Given the description of an element on the screen output the (x, y) to click on. 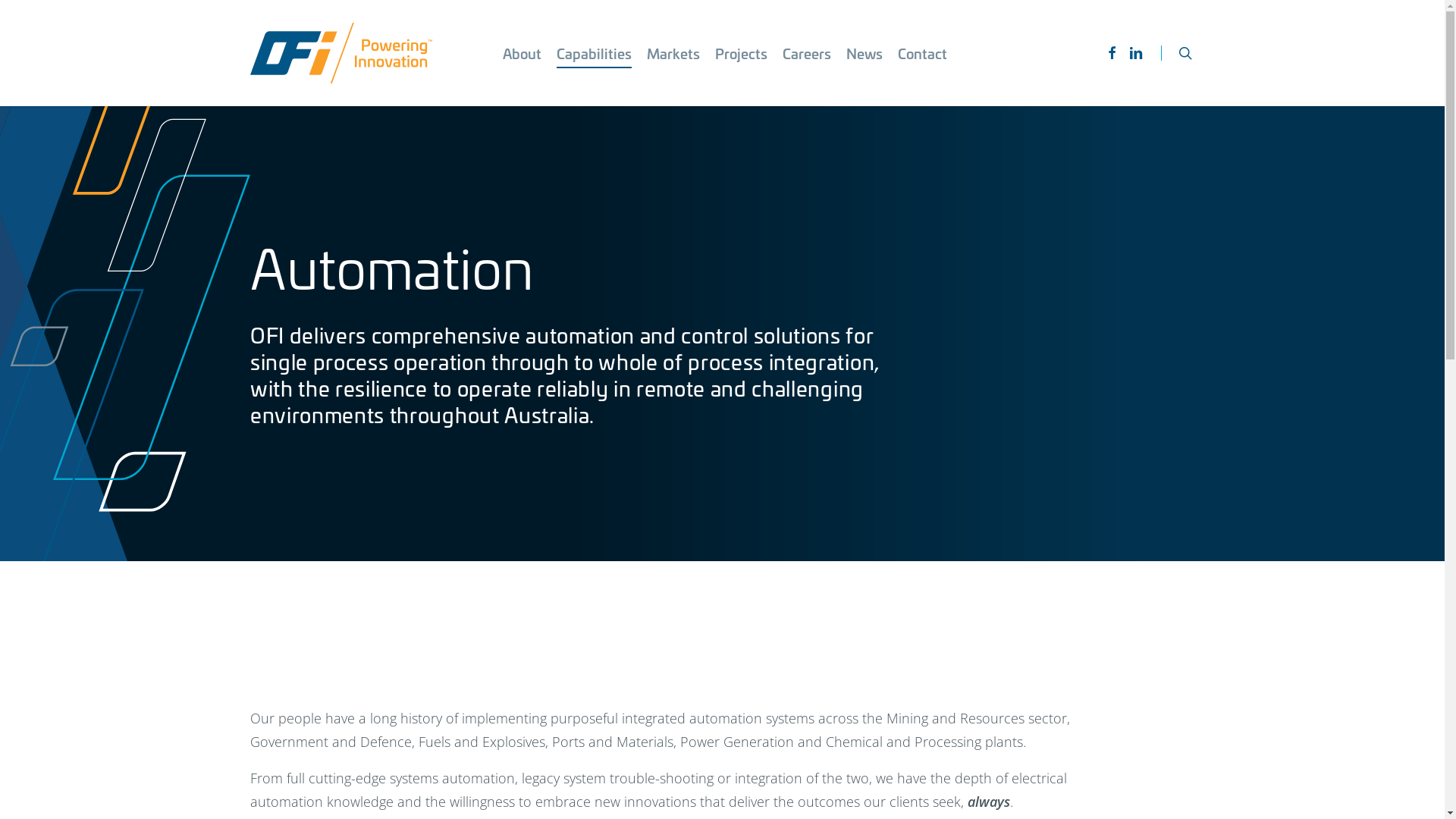
facebook Element type: text (1111, 52)
Careers Element type: text (806, 52)
search Element type: text (1185, 52)
Contact Element type: text (922, 52)
linkedin Element type: text (1135, 52)
Capabilities Element type: text (593, 52)
Markets Element type: text (672, 52)
About Element type: text (521, 52)
Projects Element type: text (741, 52)
News Element type: text (864, 52)
